Given the description of an element on the screen output the (x, y) to click on. 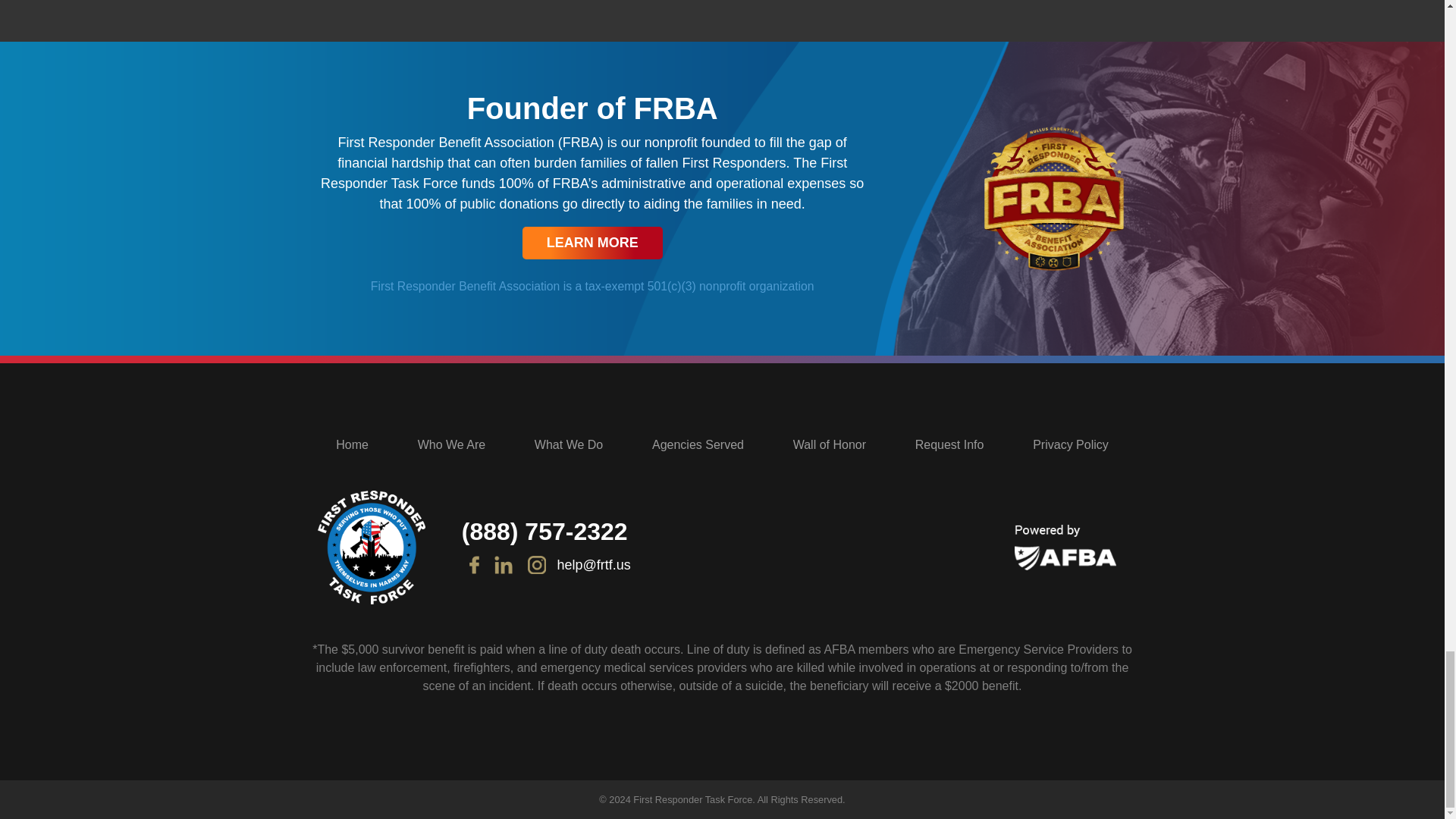
Who We Are (451, 444)
Home (352, 444)
Wall of Honor (829, 444)
LEARN MORE (592, 242)
Agencies Served (698, 444)
What We Do (568, 444)
Request Info (949, 444)
Privacy Policy (1070, 444)
